Given the description of an element on the screen output the (x, y) to click on. 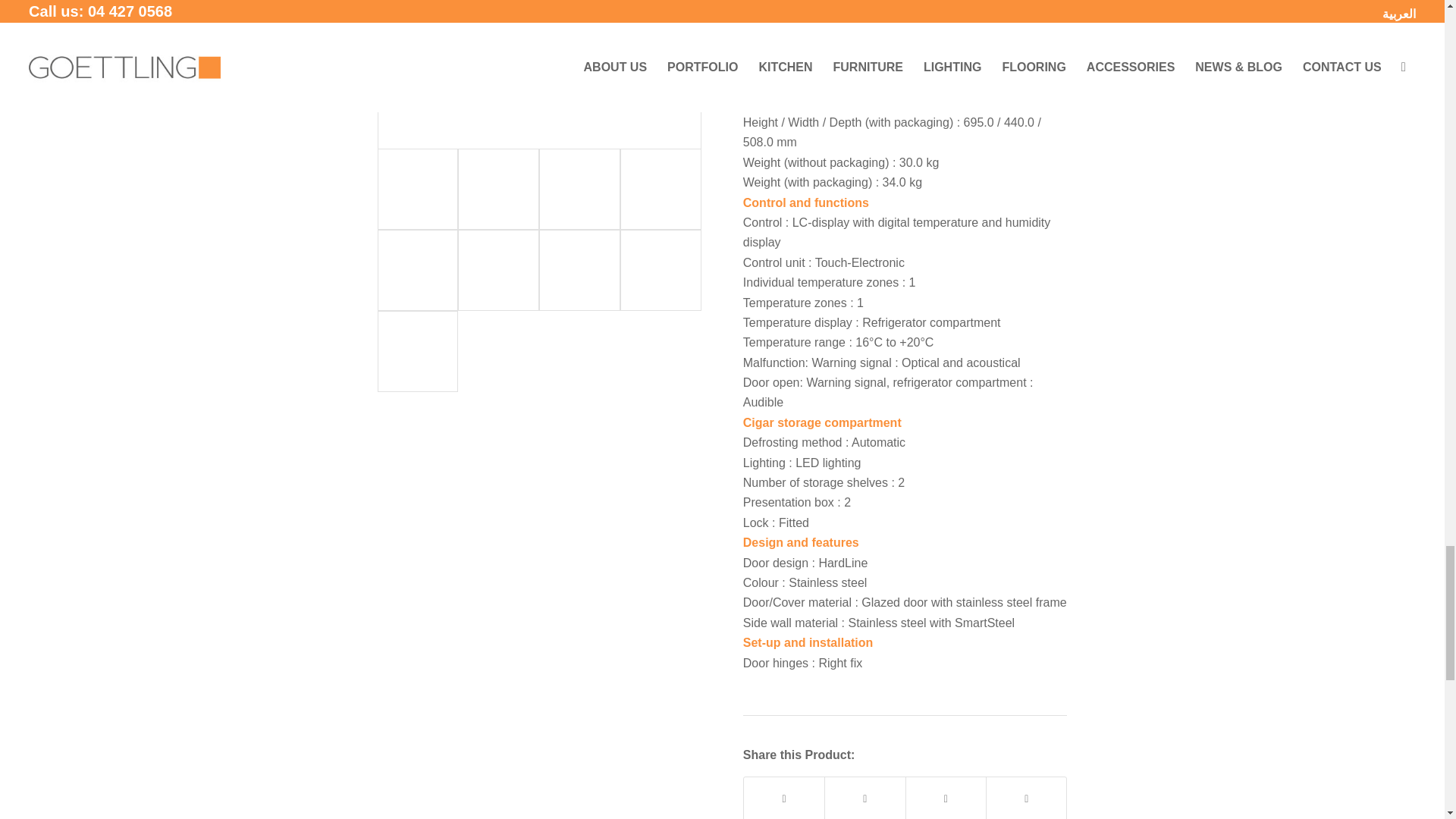
ZKes 453 (417, 189)
ZKes 453 (539, 71)
ZKes 453 (539, 74)
